Given the description of an element on the screen output the (x, y) to click on. 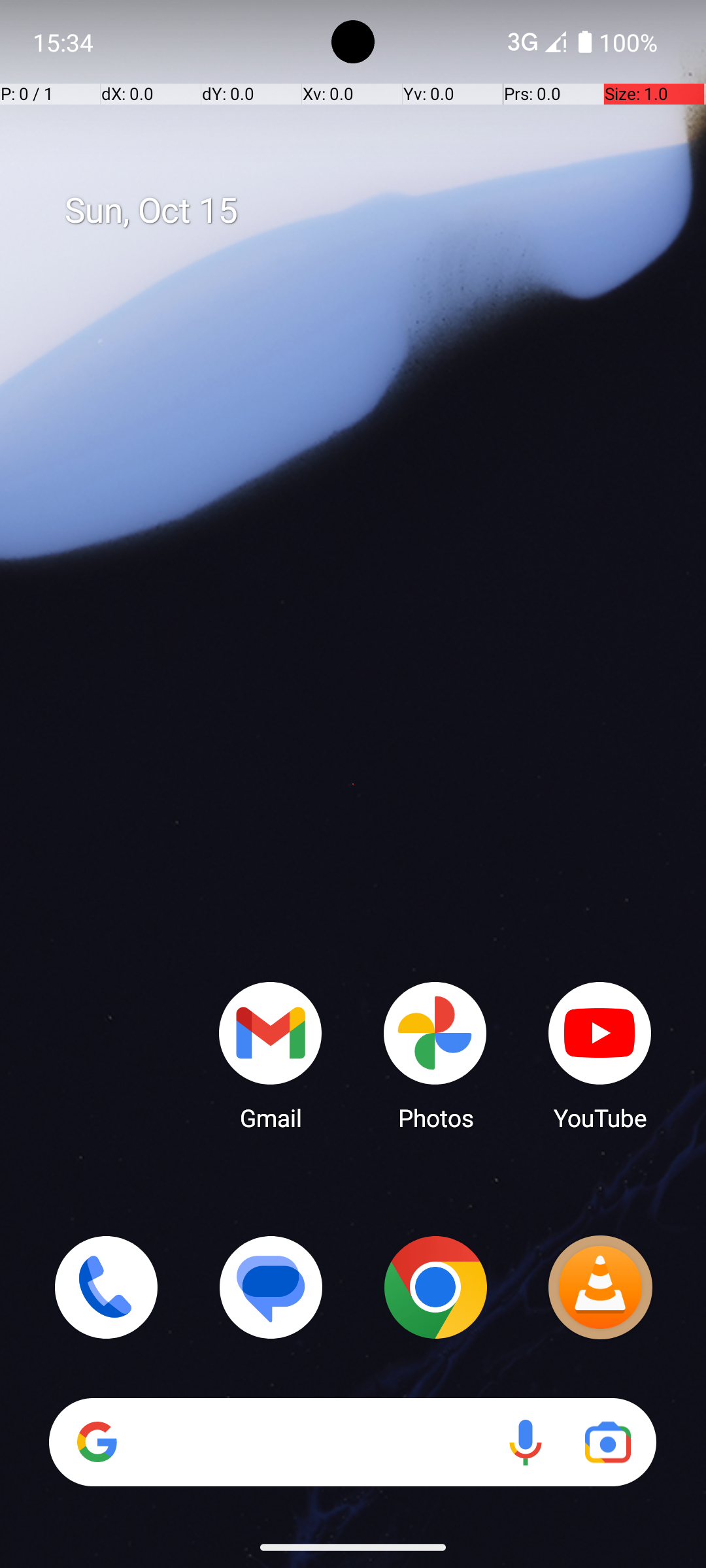
VLC Element type: android.widget.TextView (599, 1287)
